Given the description of an element on the screen output the (x, y) to click on. 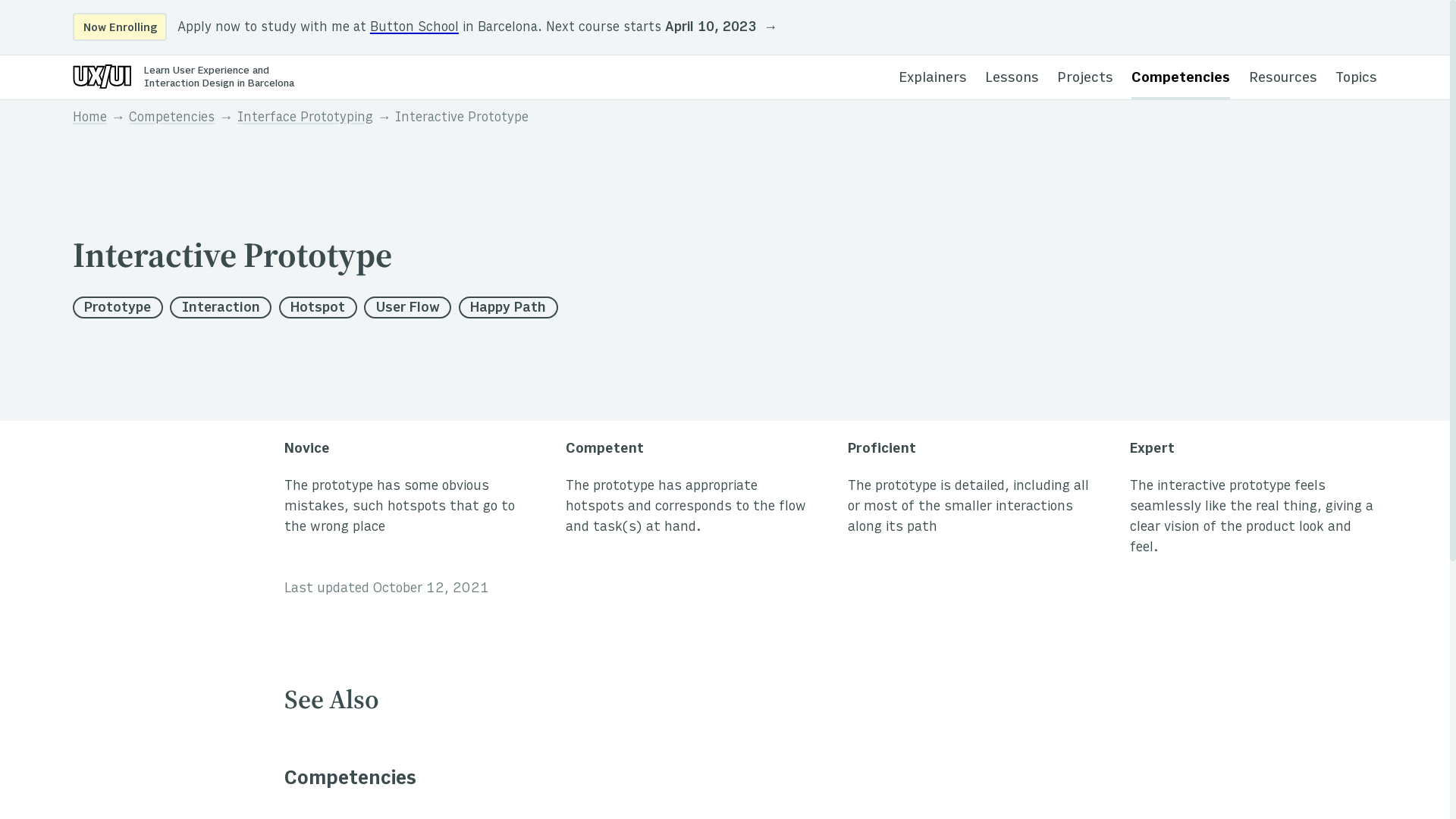
Interaction Element type: text (220, 307)
Projects Element type: text (1085, 77)
Happy Path Element type: text (508, 307)
Resources Element type: text (1282, 77)
Competencies Element type: text (171, 118)
Competencies Element type: text (1180, 77)
Learn User Experience and
Interaction Design in Barcelona Element type: text (183, 77)
Prototype Element type: text (117, 307)
Hotspot Element type: text (318, 307)
User Flow Element type: text (407, 307)
Topics Element type: text (1356, 77)
Explainers Element type: text (932, 77)
Interactive Prototype Element type: text (461, 118)
Home Element type: text (89, 118)
Lessons Element type: text (1011, 77)
Interface Prototyping Element type: text (305, 118)
